Given the description of an element on the screen output the (x, y) to click on. 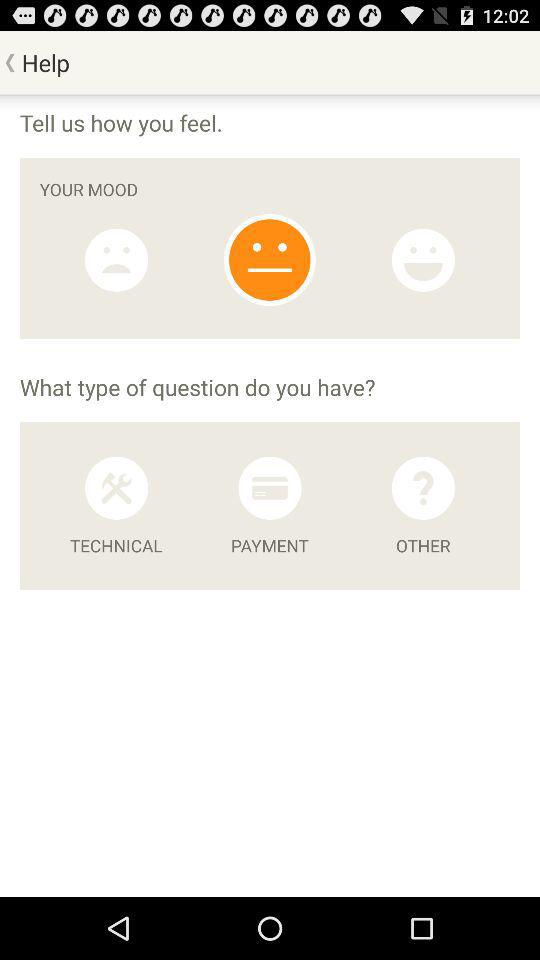
happy mood (423, 260)
